Given the description of an element on the screen output the (x, y) to click on. 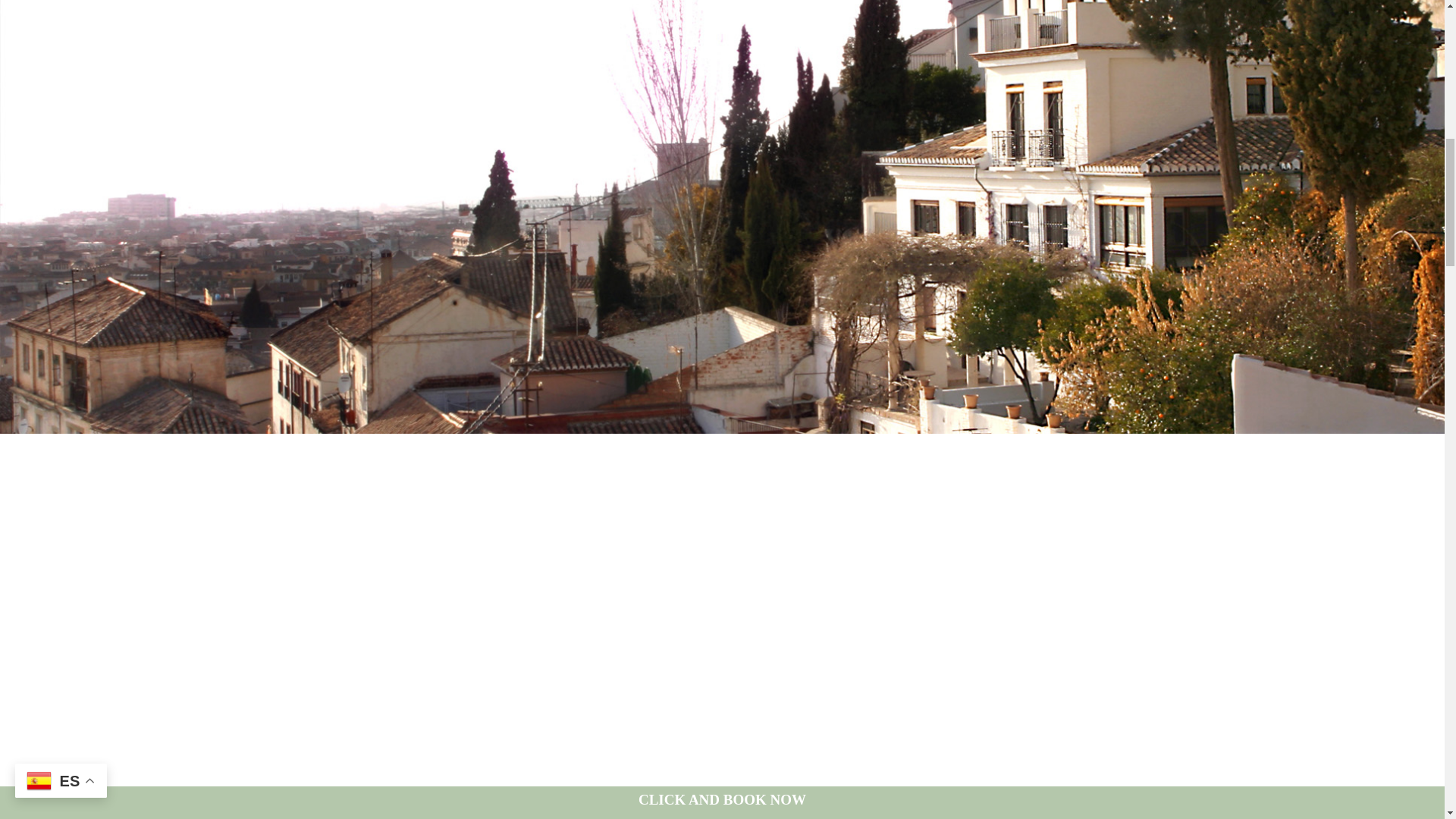
THE ROOMS (423, 319)
IMAGE GALLERY (423, 352)
SUSTAINABILITY COMMITMENT (423, 418)
PLANS IN GRANADA (423, 484)
hotel boutique carmen centro granada vistas sierra nevada (721, 802)
hotel boutique carmen centro granada vistas sierra nevada 7 (1128, 802)
YOUR HOTEL NEAR THE ALHAMBRA (423, 452)
HOME PAGE (423, 253)
